Given the description of an element on the screen output the (x, y) to click on. 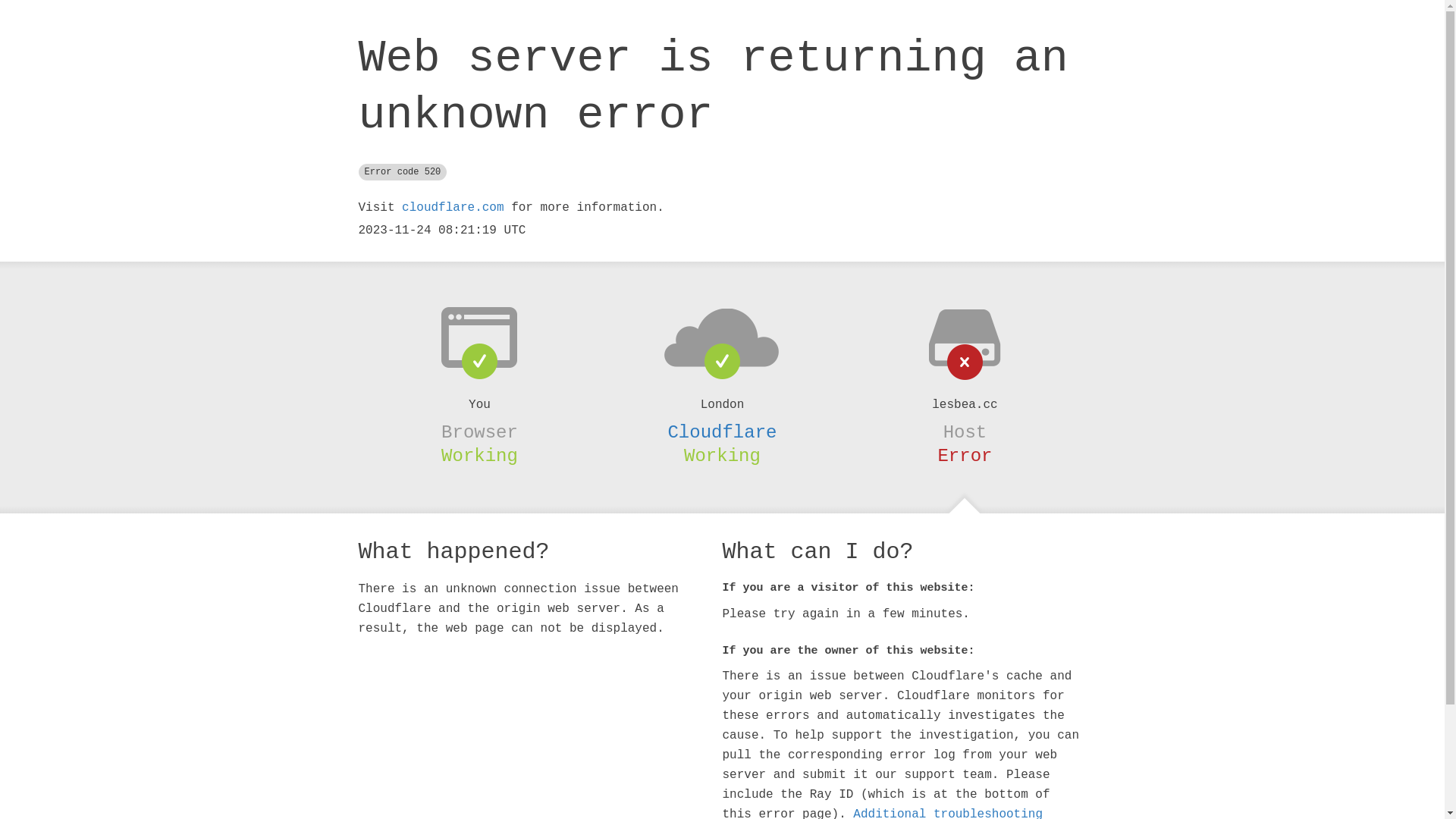
Cloudflare Element type: text (721, 432)
cloudflare.com Element type: text (452, 207)
